Given the description of an element on the screen output the (x, y) to click on. 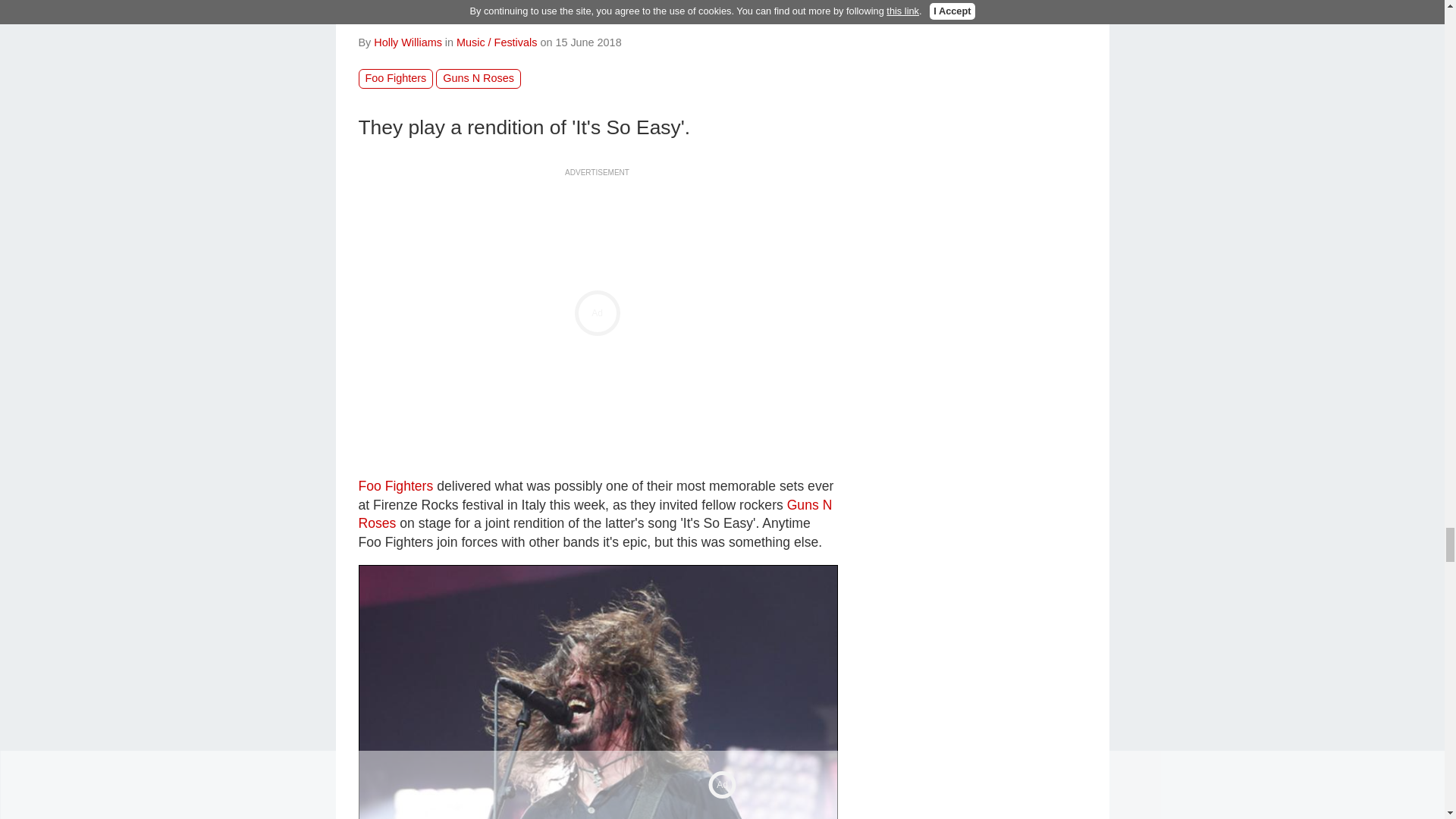
Foo Fighters at Glastonbury Festival (597, 692)
